Given the description of an element on the screen output the (x, y) to click on. 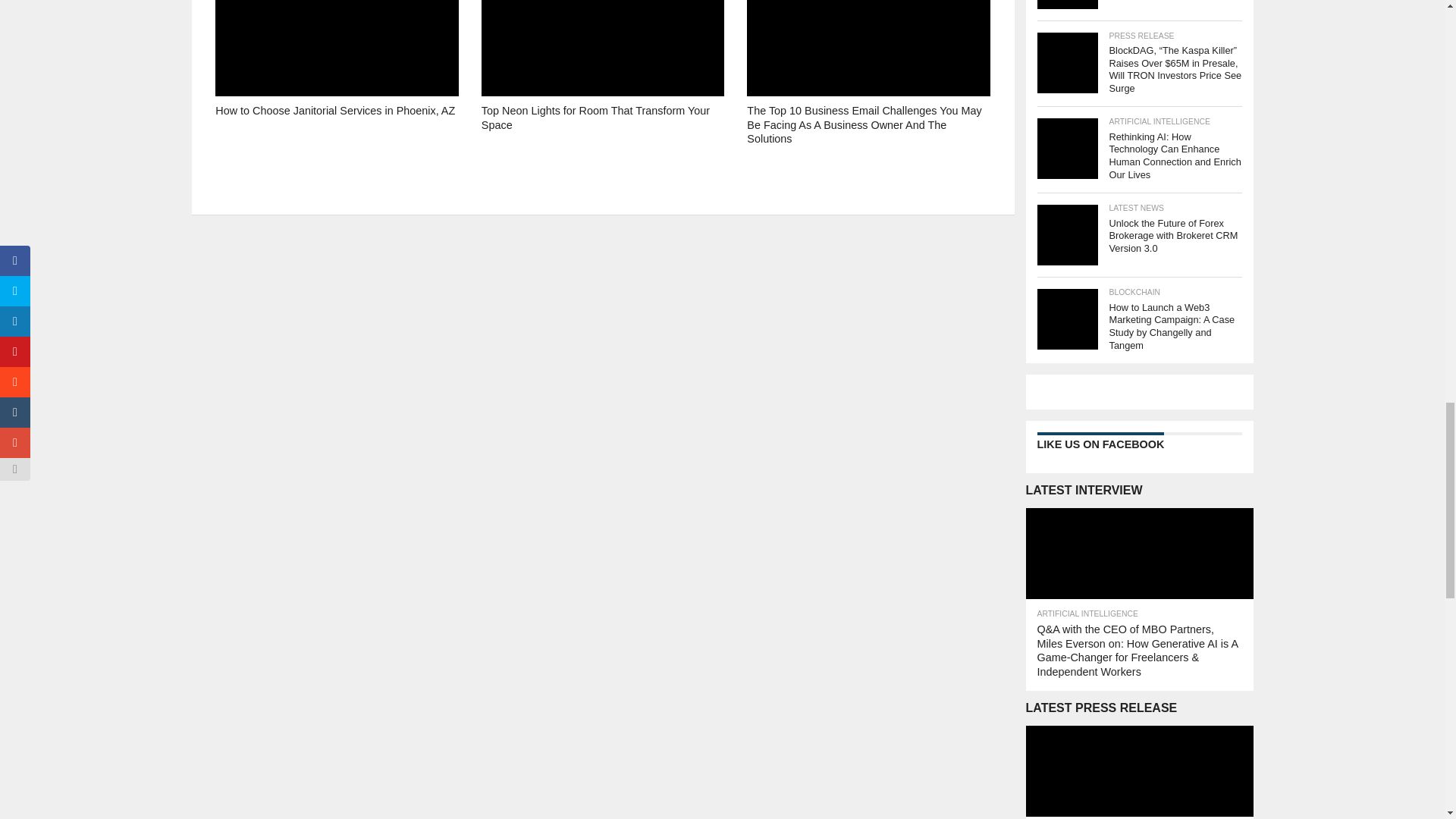
How to Choose Janitorial Services in Phoenix, AZ (336, 138)
Top Neon Lights for Room That Transform Your Space (602, 138)
